Given the description of an element on the screen output the (x, y) to click on. 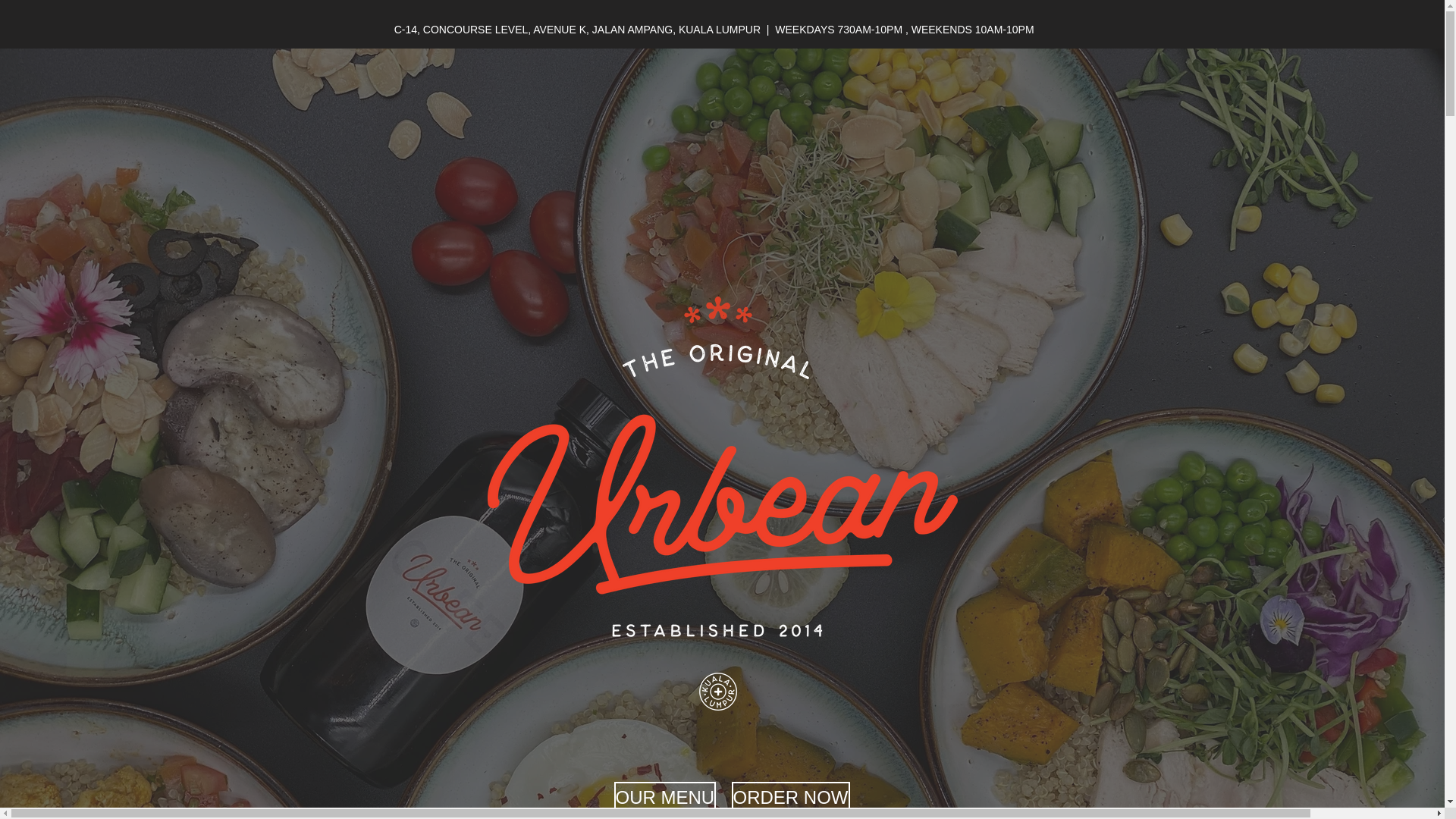
OUR MENU (665, 798)
ORDER NOW (789, 798)
